Given the description of an element on the screen output the (x, y) to click on. 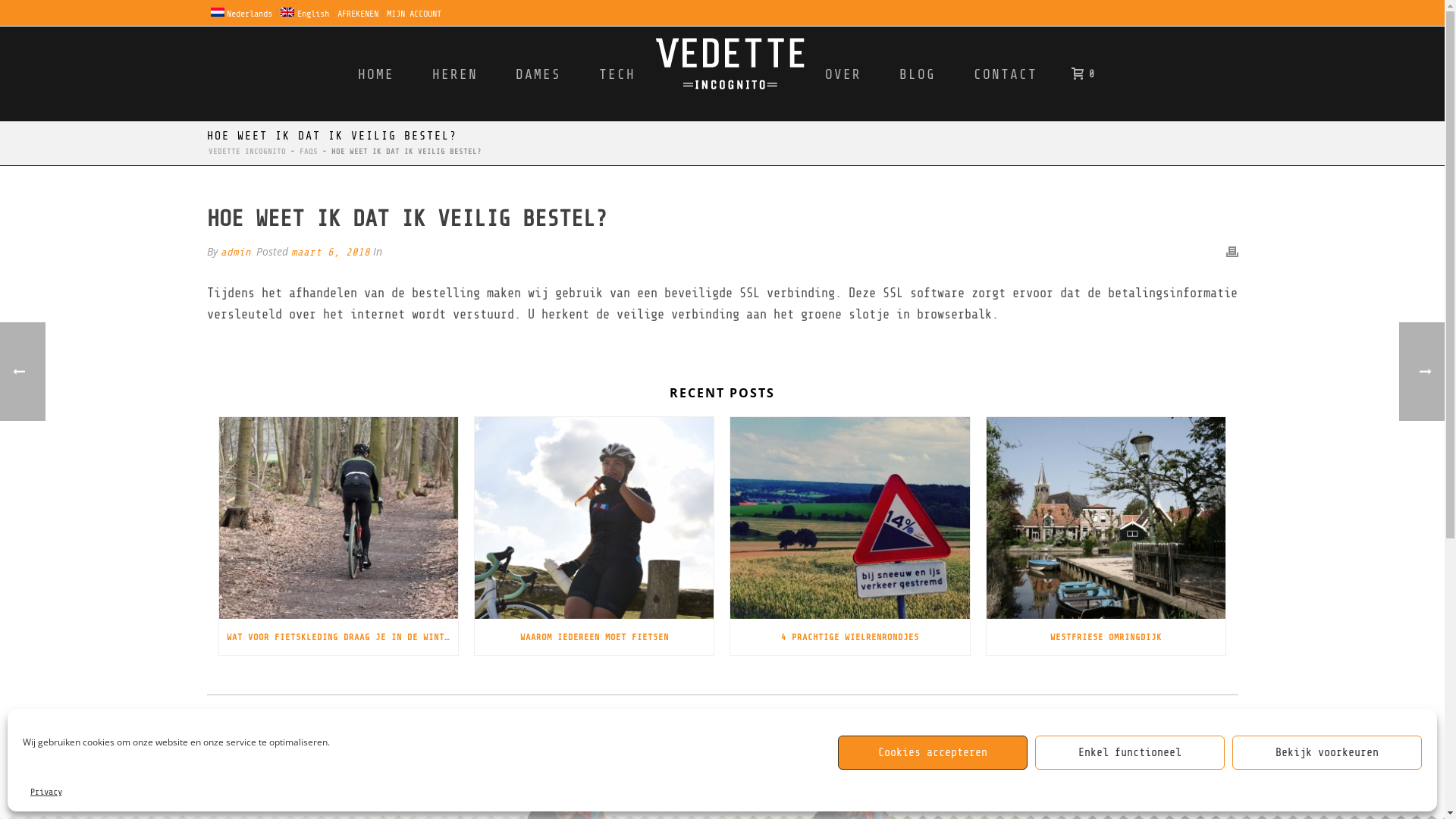
admin Element type: text (234, 251)
4 prachtige wielrenrondjes Element type: hover (849, 517)
DAMES Element type: text (537, 74)
WAAROM IEDEREEN MOET FIETSEN Element type: text (593, 636)
0 Element type: text (1078, 74)
Westfriese Omringdijk Element type: hover (1105, 517)
TECH Element type: text (616, 74)
WAT VOOR FIETSKLEDING DRAAG JE IN DE WINTER? Element type: text (337, 636)
Bekijk voorkeuren Element type: text (1326, 752)
MIJN ACCOUNT Element type: text (413, 13)
HOME Element type: text (375, 74)
VEDETTE INCOGNITO Element type: text (246, 151)
Wat voor fietskleding draag je in de winter? Element type: hover (337, 517)
Enkel functioneel Element type: text (1129, 752)
AFREKENEN Element type: text (357, 13)
Nederlands Element type: text (241, 12)
WESTFRIESE OMRINGDIJK Element type: text (1105, 636)
English Element type: text (304, 12)
HEREN Element type: text (453, 74)
Privacy Element type: text (46, 792)
Goede en stijlvolle fietskleding voor mannen en vrouwen Element type: hover (729, 64)
Cookies accepteren Element type: text (932, 752)
Waarom iedereen moet fietsen Element type: hover (593, 517)
OVER Element type: text (842, 74)
BLOG Element type: text (916, 74)
CONTACT Element type: text (1004, 74)
Vedette Incognito Element type: hover (729, 73)
maart 6, 2018 Element type: text (330, 251)
Print Element type: hover (1231, 251)
4 PRACHTIGE WIELRENRONDJES Element type: text (849, 636)
FAQS Element type: text (307, 151)
